Given the description of an element on the screen output the (x, y) to click on. 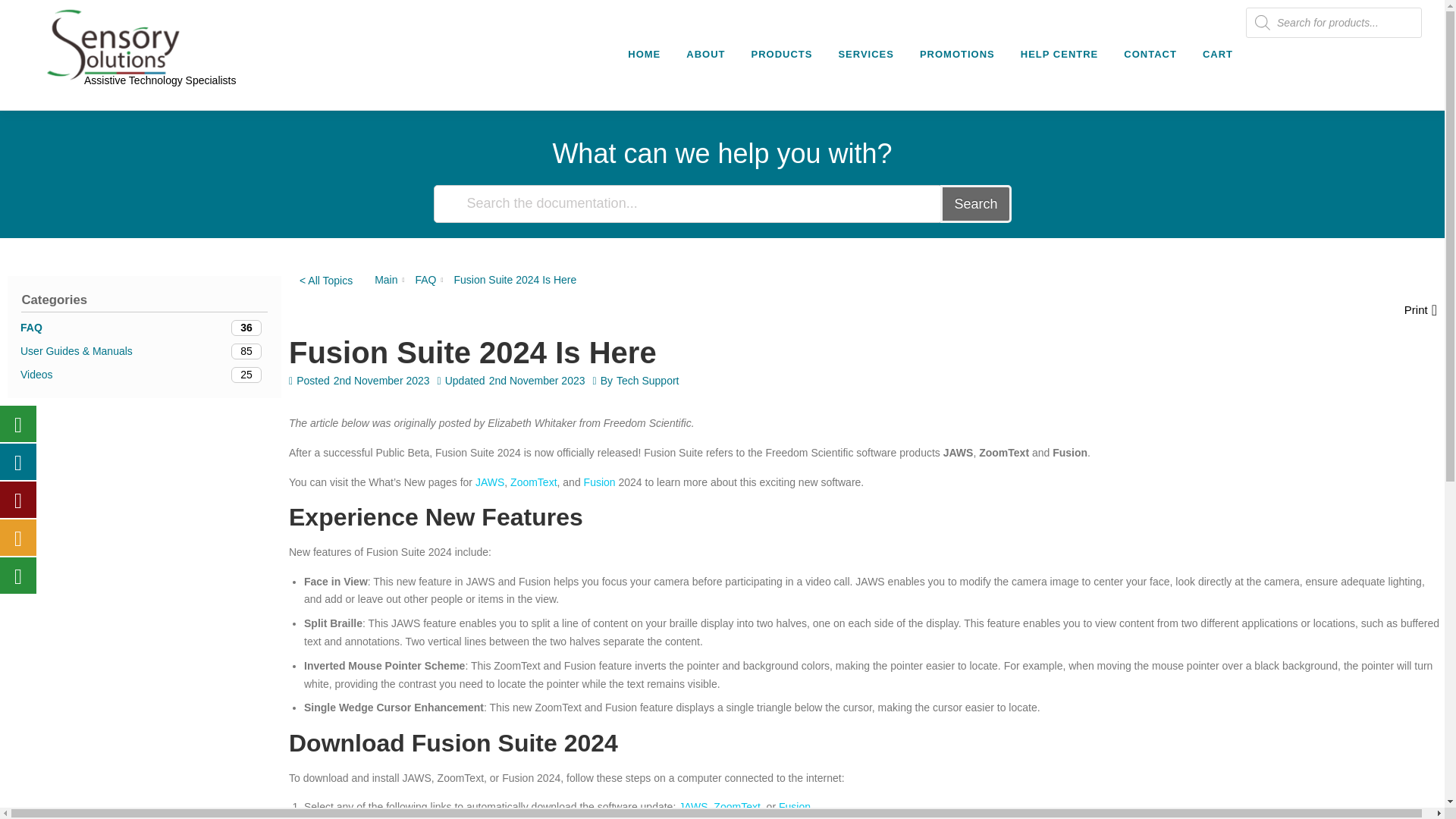
PRODUCTS (781, 54)
